Given the description of an element on the screen output the (x, y) to click on. 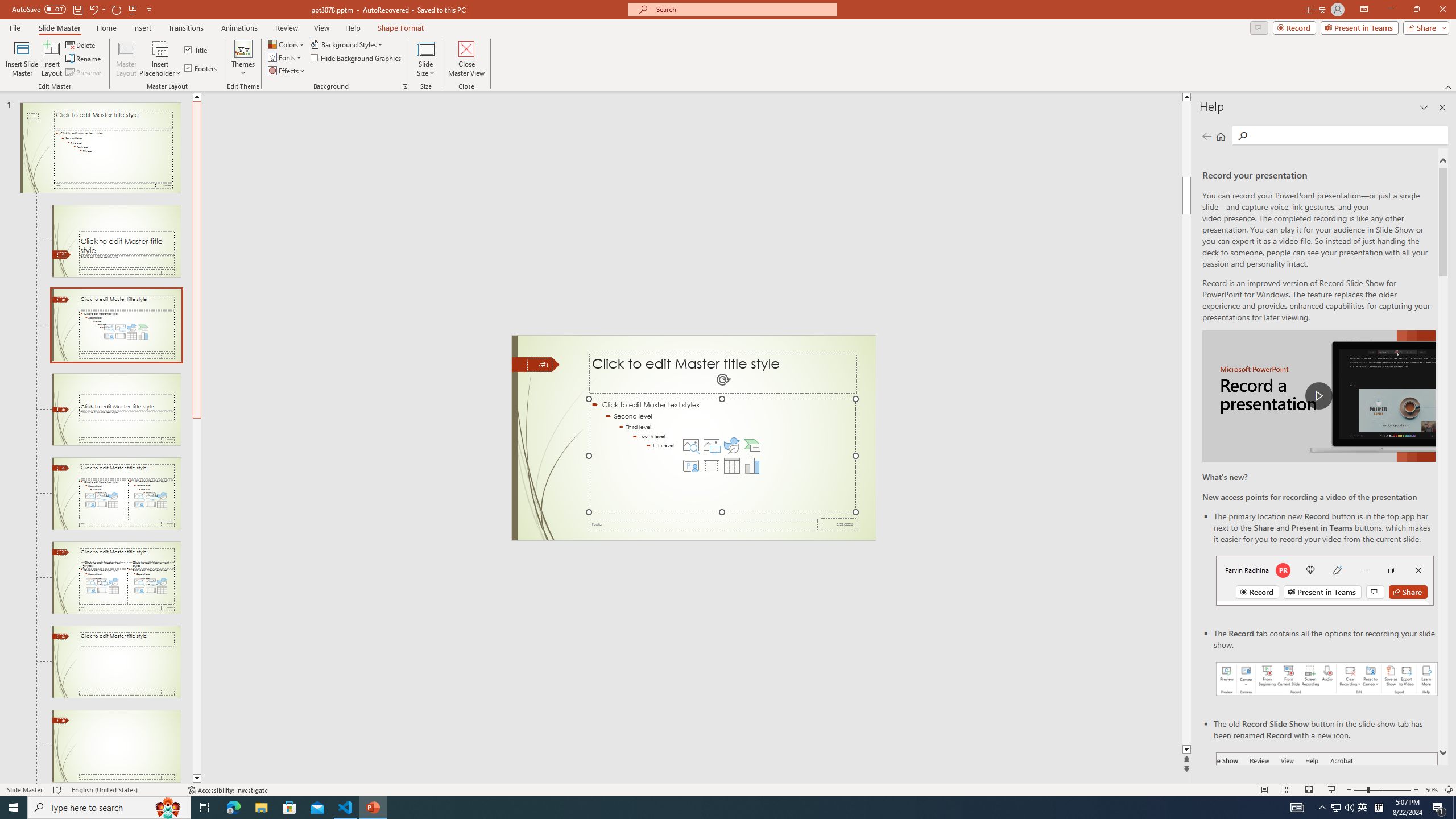
Format Background... (404, 85)
Pictures (710, 445)
Search (1347, 135)
Slide Blank Layout: used by no slides (116, 746)
Insert Video (710, 466)
Insert Cameo (690, 466)
Fonts (285, 56)
